Given the description of an element on the screen output the (x, y) to click on. 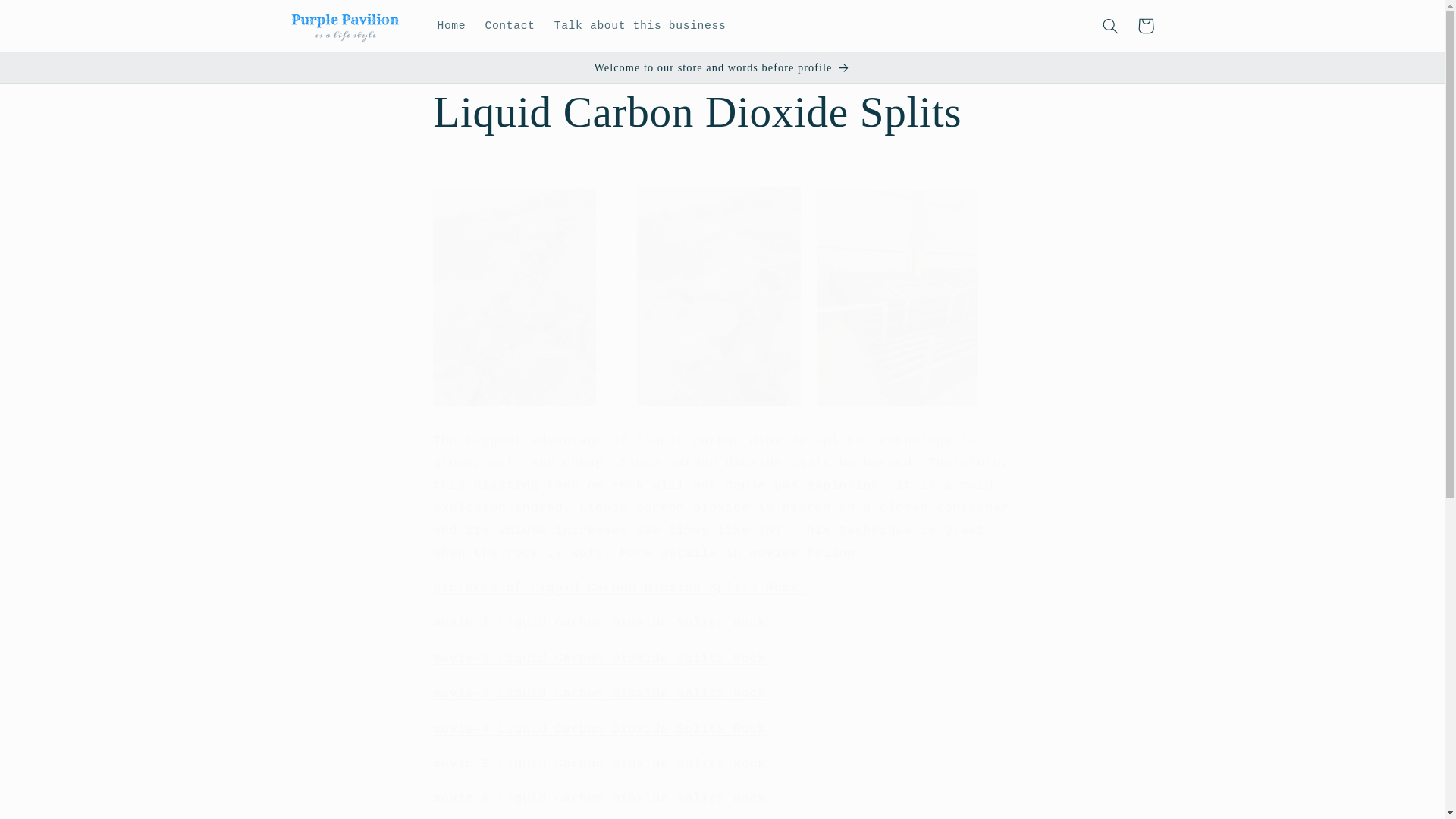
Home (452, 25)
movie-3 Liquid Carbon Dioxide Splits Rock (598, 693)
movie-6 Liquid Carbon Dioxide Splits Rock (598, 798)
Talk about this business (639, 25)
movie-1 Liquid Carbon Dioxide Splits Rock (598, 622)
movie-3 Liquid Carbon Dioxide Splits Rock (598, 693)
movie-4 Liquid Carbon Dioxide Splits Rock (598, 728)
Cart (1145, 25)
movie-6 Liquid Carbon Dioxide Splits Rock (598, 798)
movie-2 Liquid Carbon Dioxide Splits Rock (598, 658)
movie-5 Liquid Carbon Dioxide Splits Rock (598, 763)
pictures of Liquid Carbon Dioxide Splits Rock  (619, 587)
movie-1Liquid Carbon Dioxide Splits Rock (598, 622)
movie-4 Liquid Carbon Dioxide Splits Rock (598, 728)
